Given the description of an element on the screen output the (x, y) to click on. 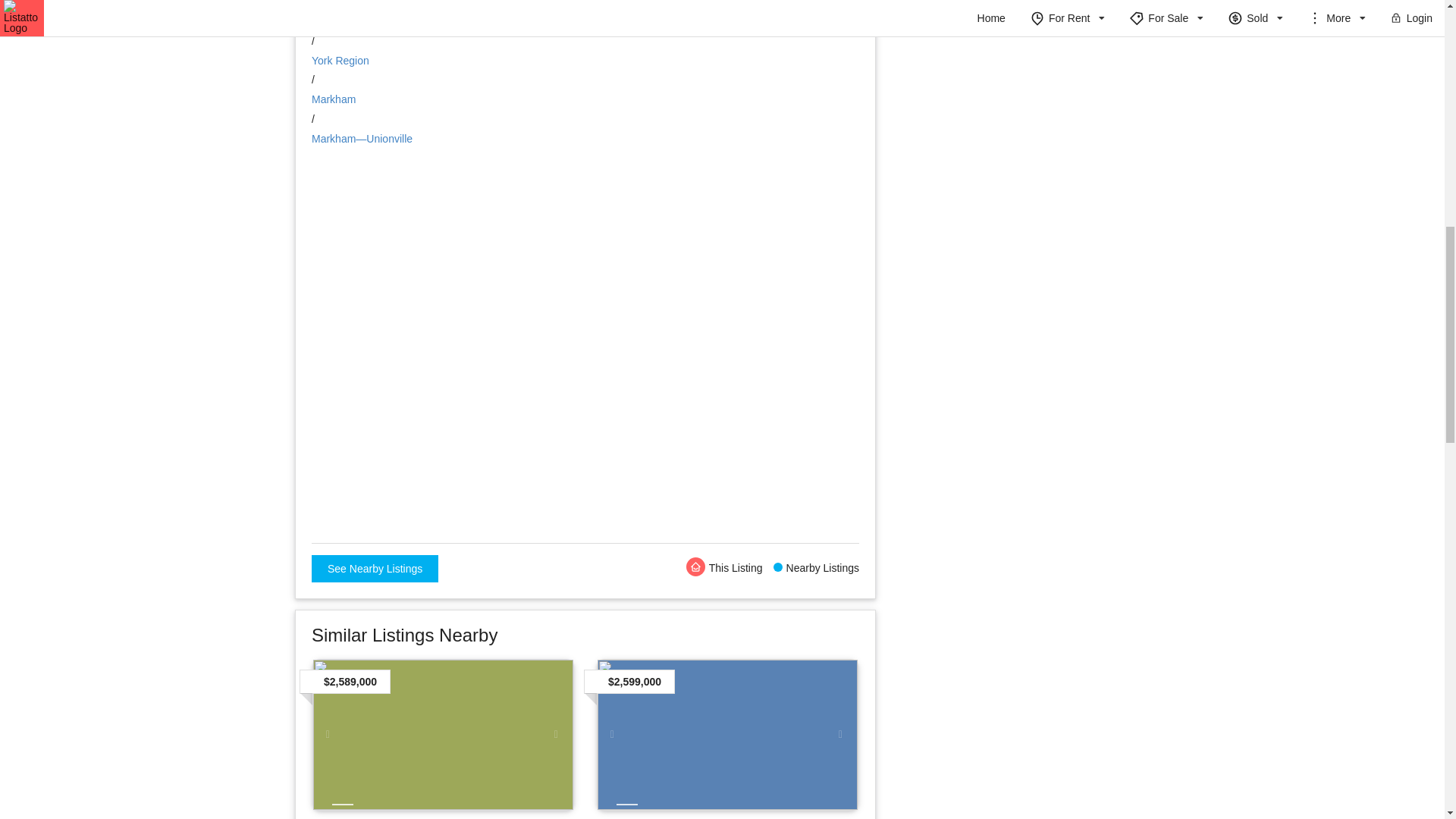
Golden Horseshoe (355, 21)
York Region (340, 60)
See Nearby Listings (374, 568)
Markham (333, 99)
